Given the description of an element on the screen output the (x, y) to click on. 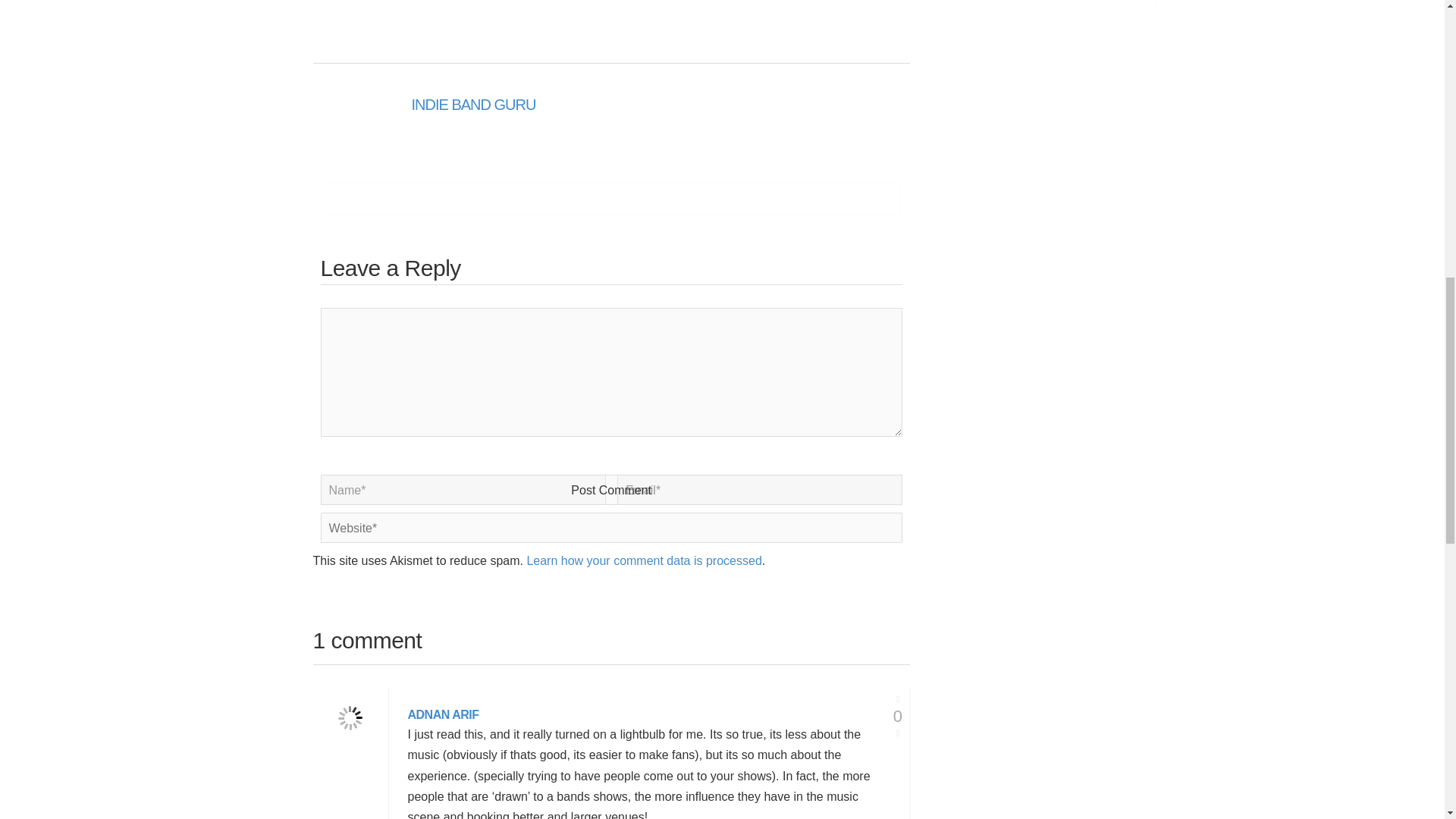
ADNAN ARIF (443, 714)
Learn how your comment data is processed (643, 560)
Post Comment (611, 490)
Post Comment (611, 490)
INDIE BAND GURU (472, 104)
